Given the description of an element on the screen output the (x, y) to click on. 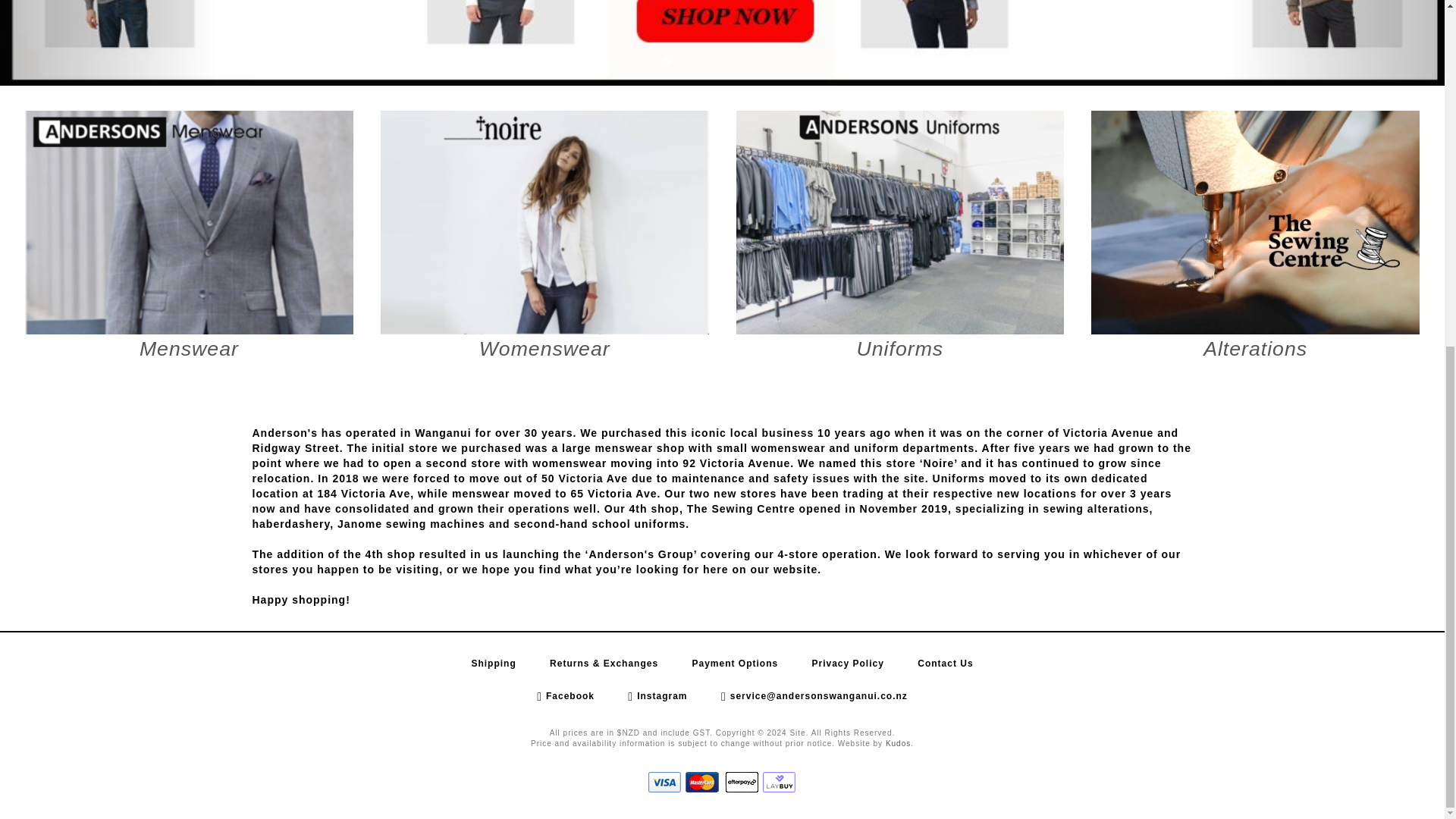
Uniforms (900, 240)
Men's Wear (189, 240)
Noire Women's Wear (544, 240)
Shop Tops (1255, 240)
